Given the description of an element on the screen output the (x, y) to click on. 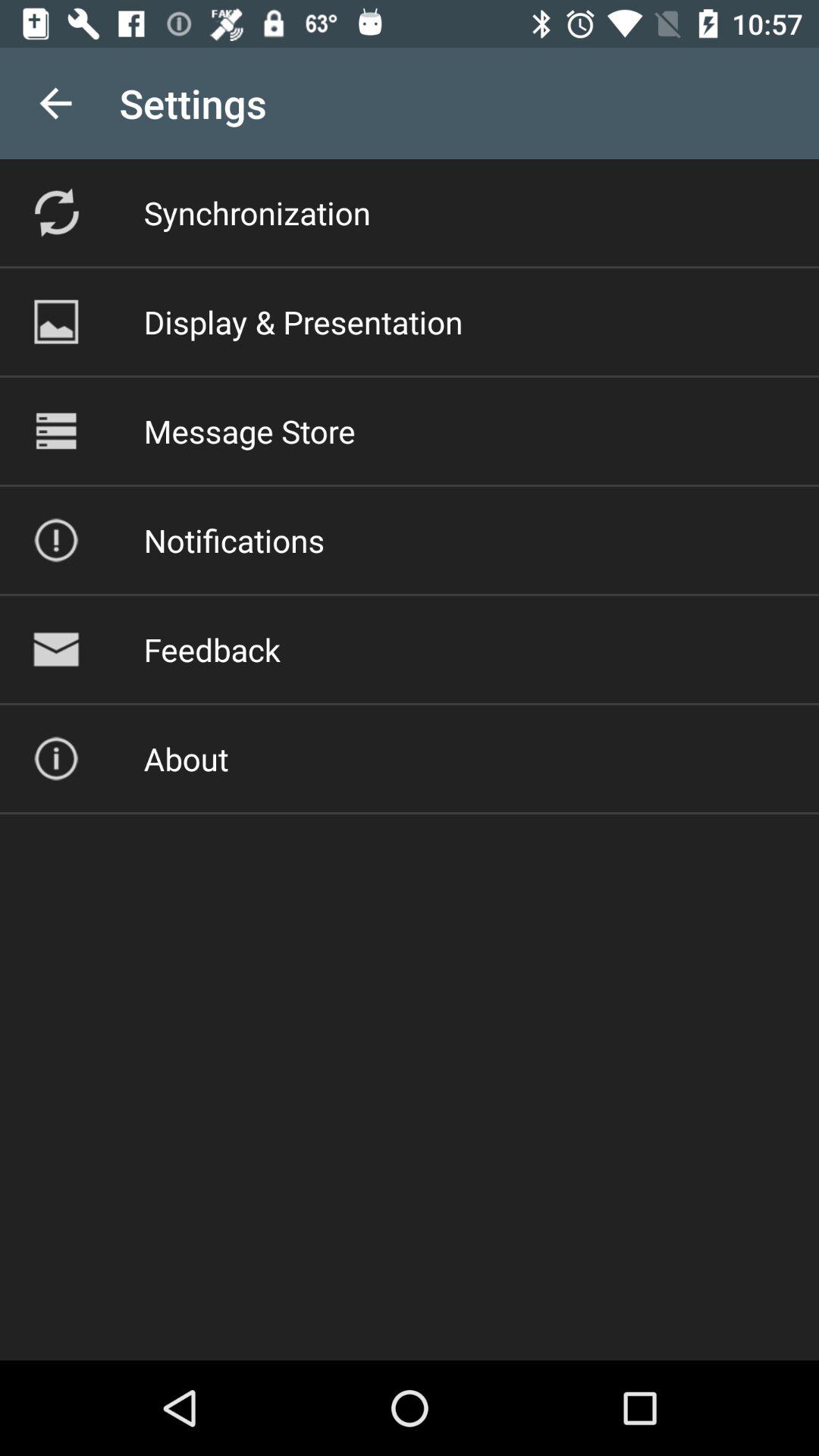
press the app next to the settings (55, 103)
